Given the description of an element on the screen output the (x, y) to click on. 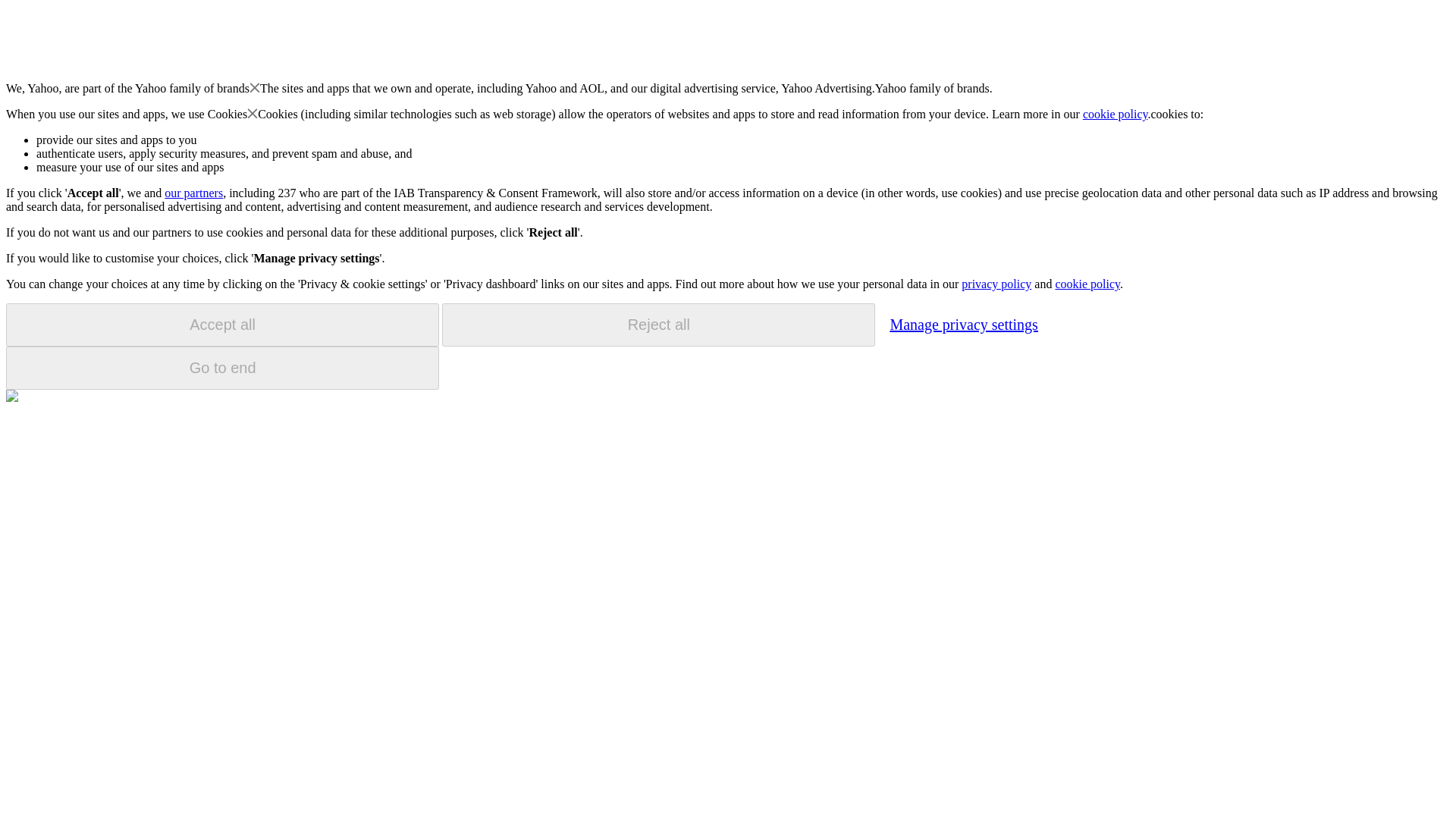
cookie policy (1086, 283)
cookie policy (1115, 113)
privacy policy (995, 283)
Go to end (222, 367)
Reject all (658, 324)
Manage privacy settings (963, 323)
Accept all (222, 324)
our partners (193, 192)
